Given the description of an element on the screen output the (x, y) to click on. 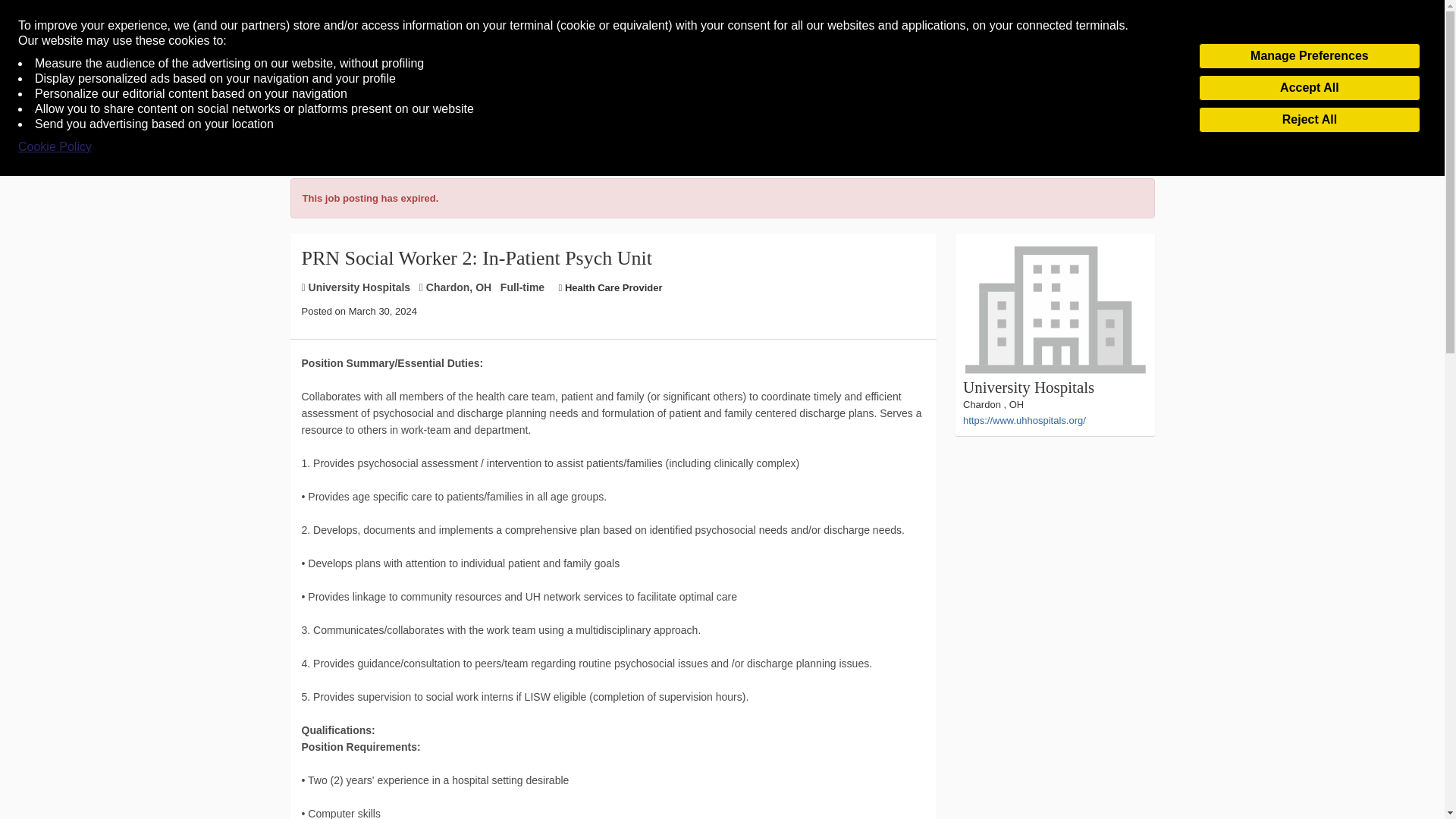
Cookie Policy (54, 146)
Manage Preferences (1309, 55)
Accept All (1309, 87)
Reject All (1309, 119)
Cleveland.com (720, 87)
Menu (40, 89)
Cleveland.com (720, 87)
